Given the description of an element on the screen output the (x, y) to click on. 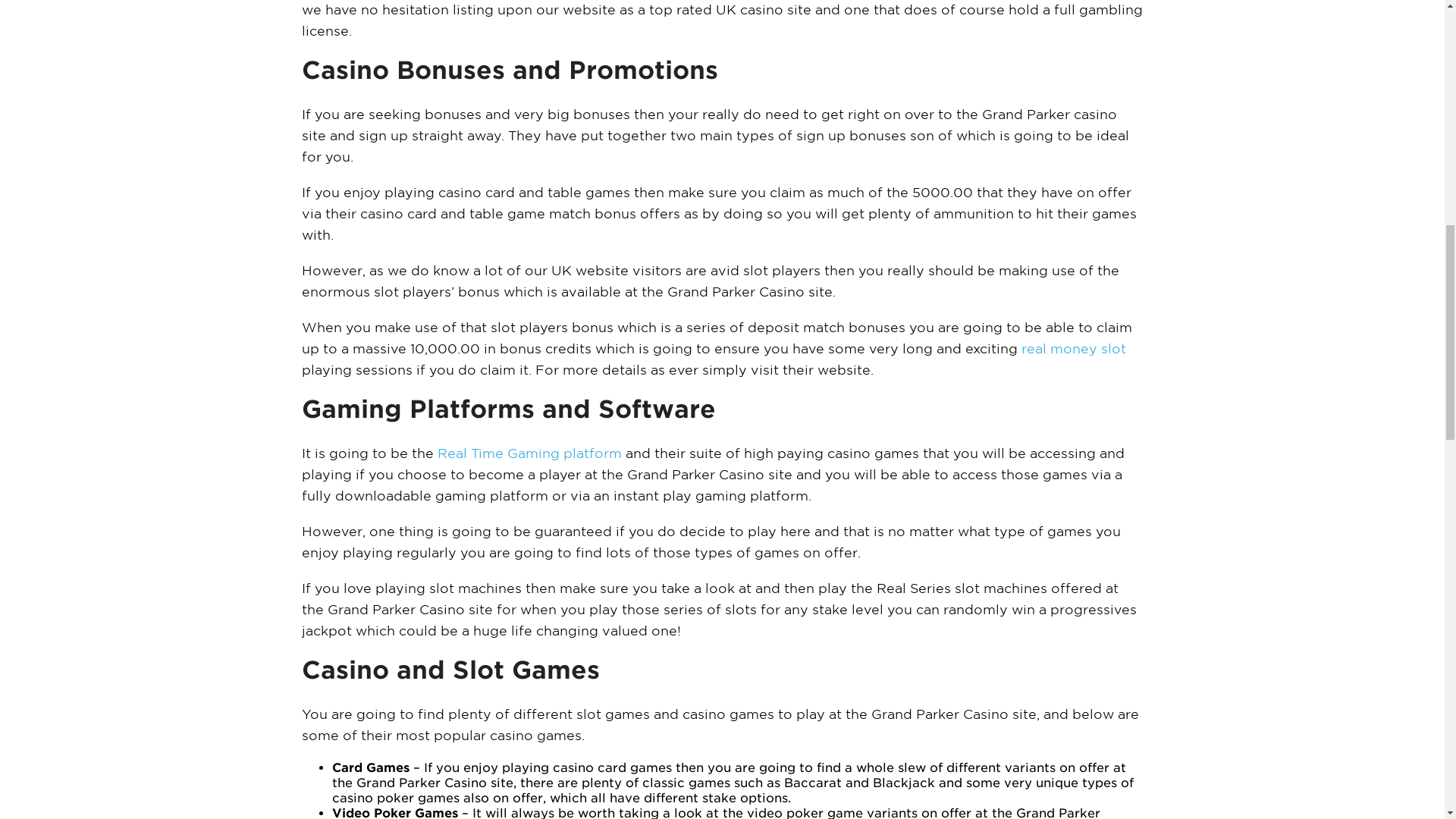
real money slot (1072, 348)
Real Time Gaming platform (528, 453)
